Given the description of an element on the screen output the (x, y) to click on. 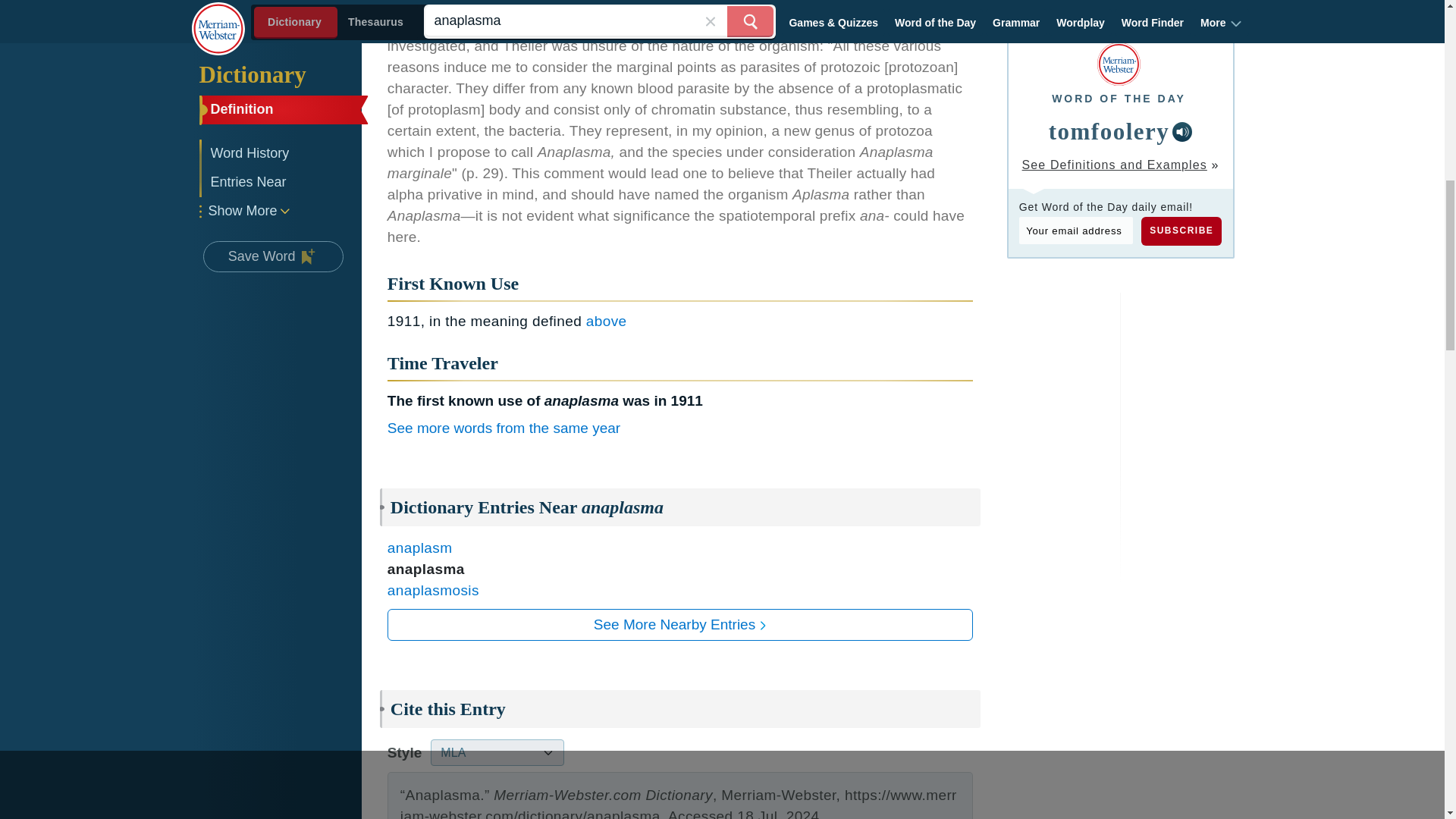
Merriam Webster (1118, 63)
SUBSCRIBE (1181, 231)
Listen to the pronunciation of tomfoolery (1182, 131)
